Given the description of an element on the screen output the (x, y) to click on. 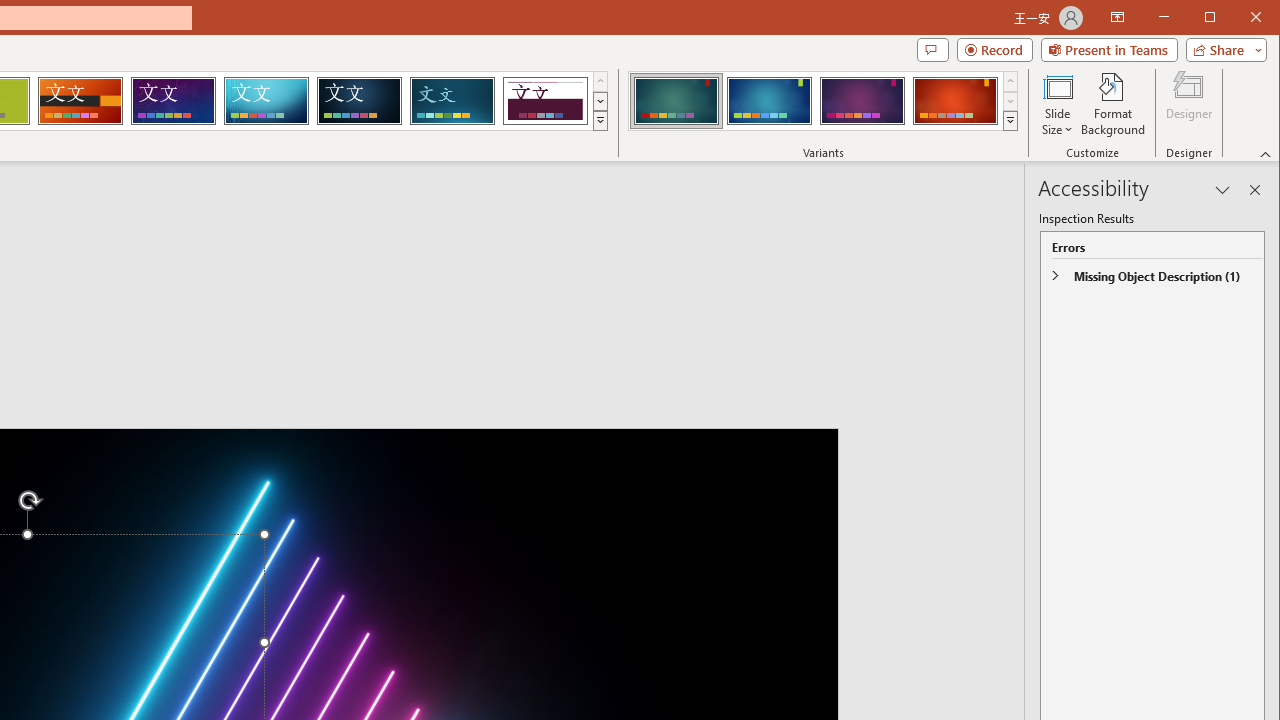
Row Down (1010, 101)
